Given the description of an element on the screen output the (x, y) to click on. 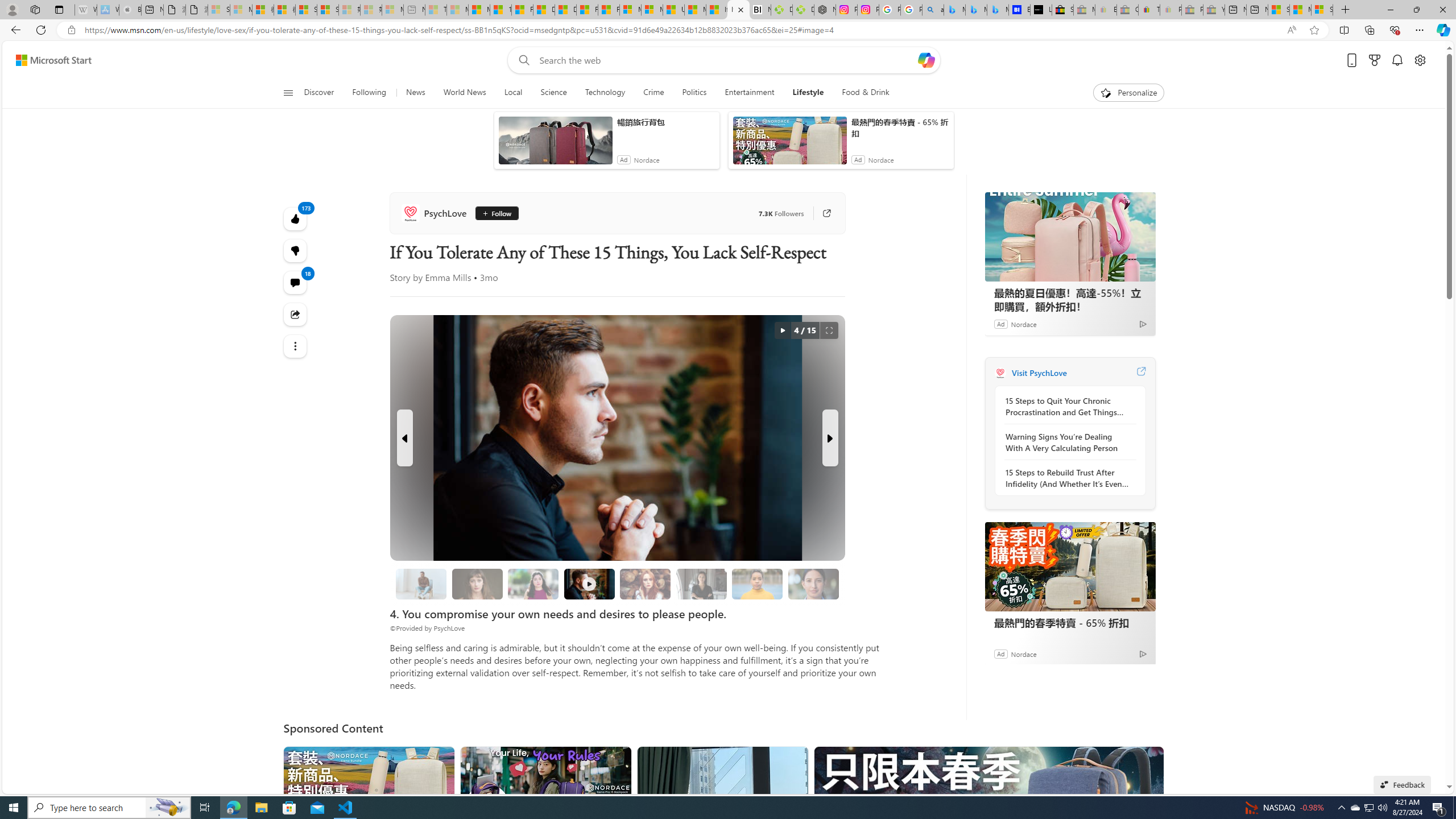
Nvidia va a poner a prueba la paciencia de los inversores (760, 9)
3. Put some thought into it. (421, 583)
autorotate button (782, 330)
Microsoft Bing Travel - Shangri-La Hotel Bangkok (997, 9)
Marine life - MSN - Sleeping (457, 9)
